Given the description of an element on the screen output the (x, y) to click on. 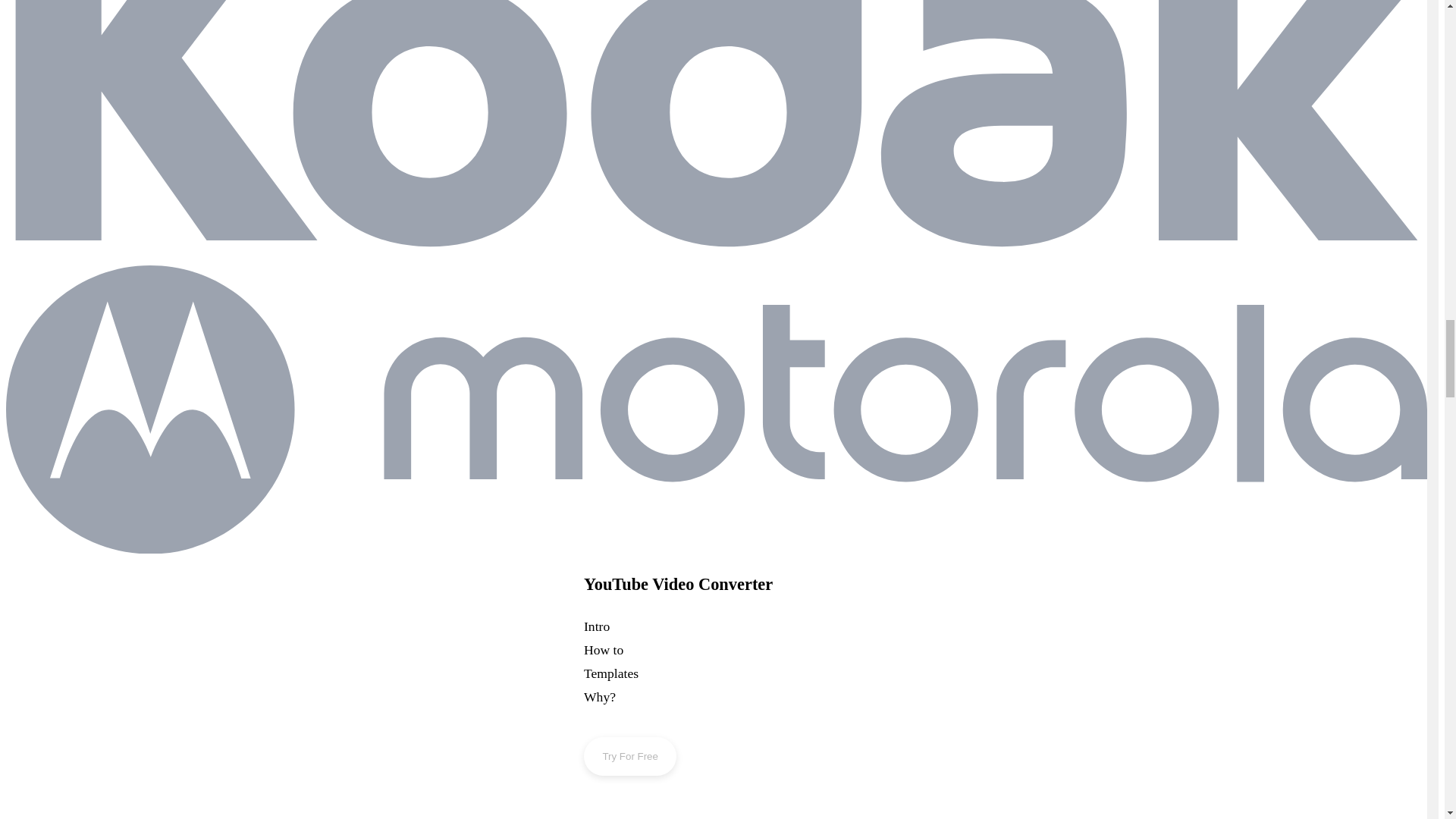
Try For Free (630, 756)
Intro (630, 630)
Why? (630, 700)
Templates (630, 677)
How to (630, 653)
